Given the description of an element on the screen output the (x, y) to click on. 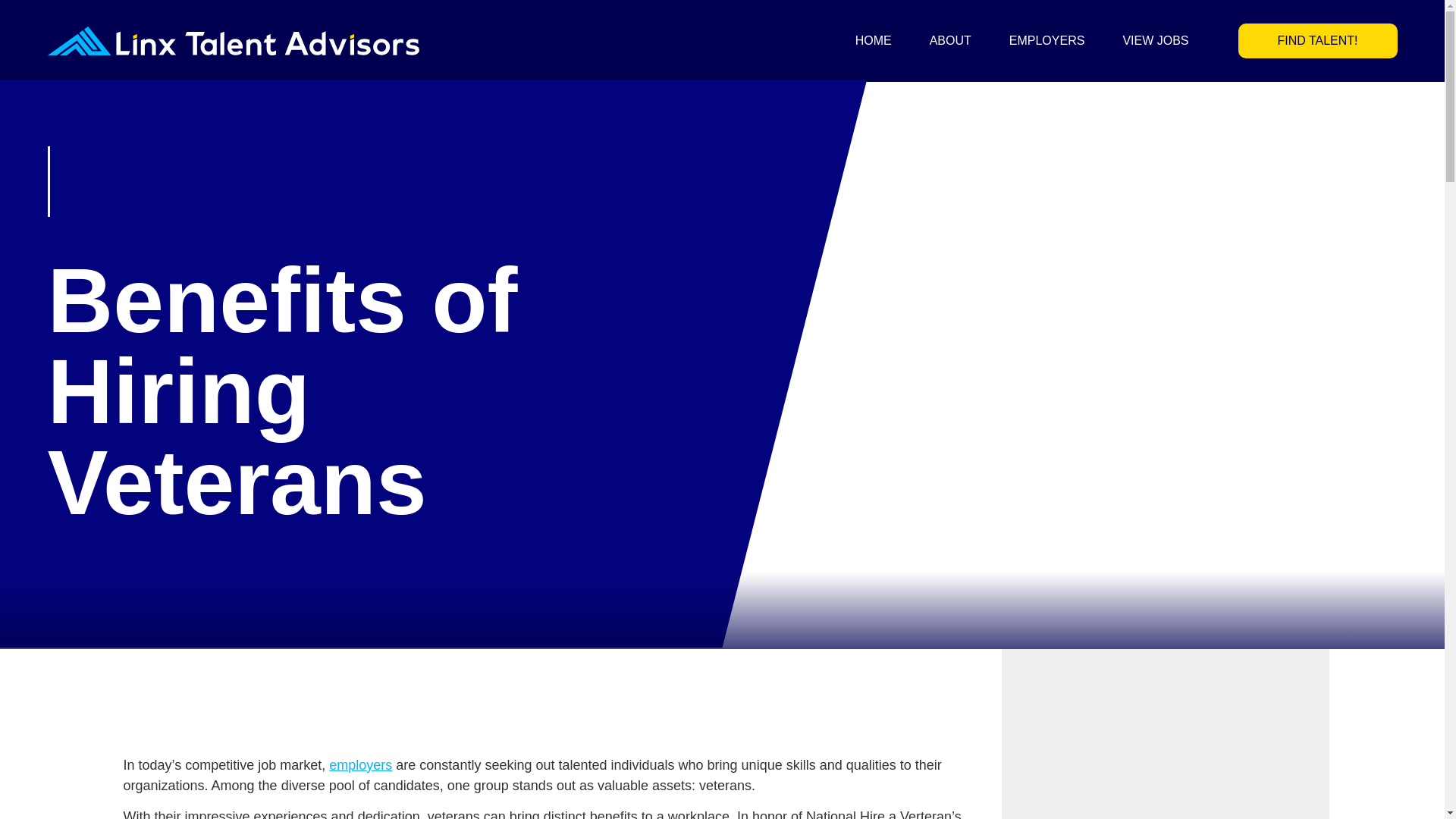
VIEW JOBS (1155, 40)
EMPLOYERS (1046, 40)
ABOUT (950, 40)
employers (360, 765)
FIND TALENT! (1316, 40)
HOME (873, 40)
